Given the description of an element on the screen output the (x, y) to click on. 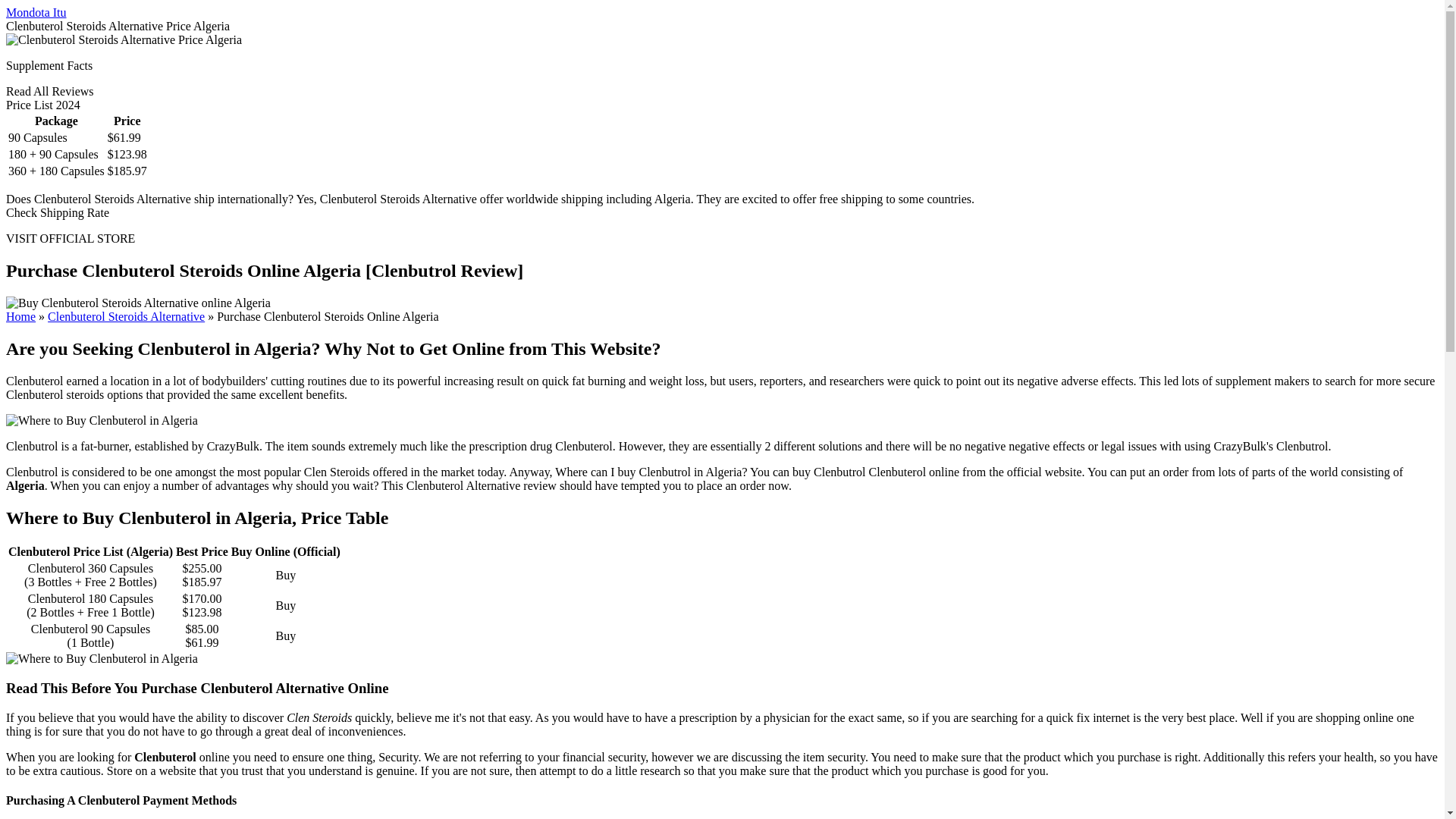
Mondota Itu (35, 11)
Where to Buy Clenbuterol in Algeria (101, 420)
Purchase Clenbuterol Steroids Alternative online Algeria (137, 303)
Home (19, 316)
Clenbuterol Steroids Alternative (126, 316)
Where to Buy Clenbuterol in Algeria (101, 658)
Buy Clenbuterol Steroids Alternative Online  (126, 316)
Clenbuterol Steroids Alternative Price Algeria (123, 39)
Mondota Itu (35, 11)
